Given the description of an element on the screen output the (x, y) to click on. 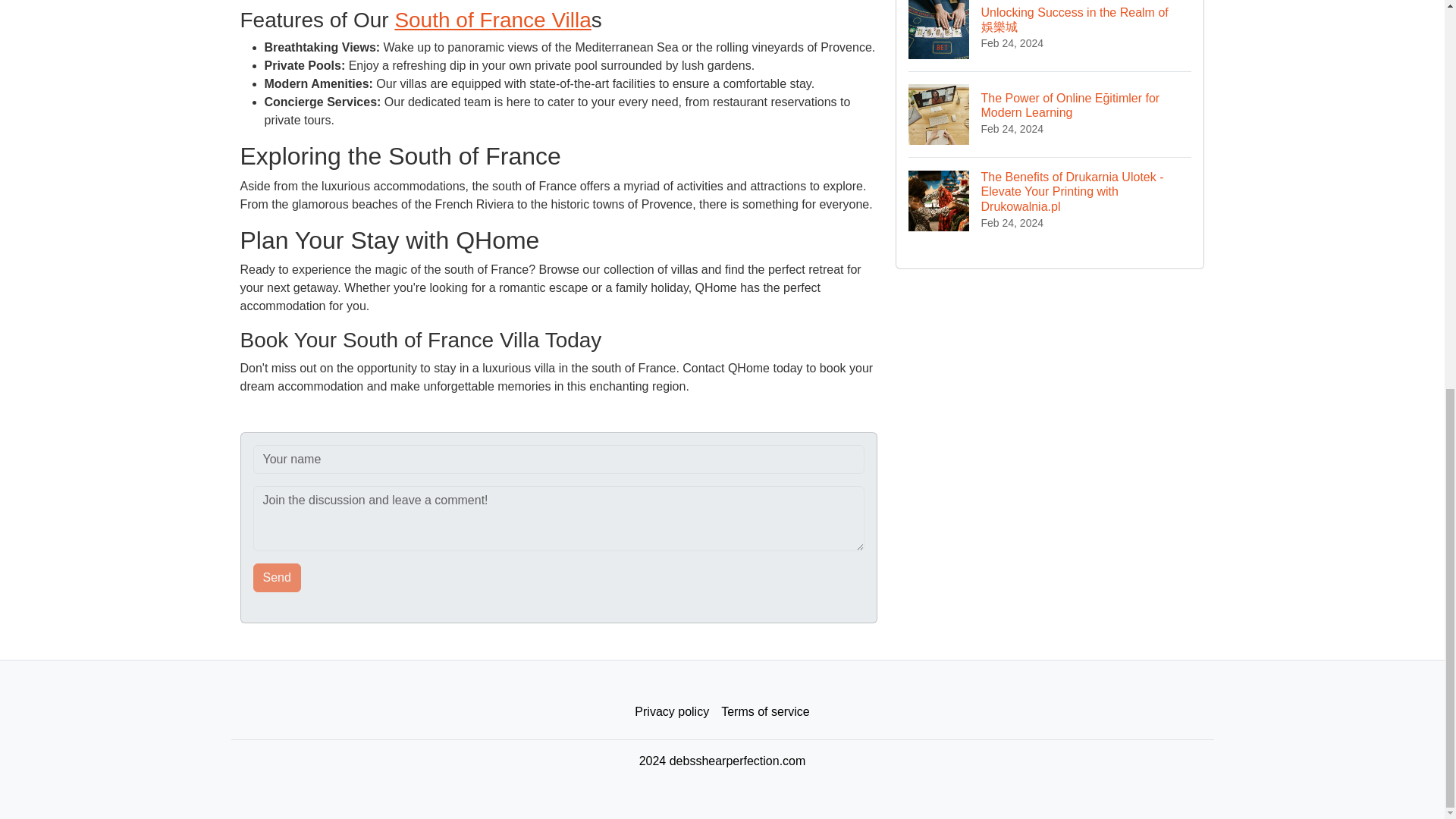
Privacy policy (671, 711)
Terms of service (764, 711)
Send (277, 577)
Send (277, 577)
South of France Villa (492, 19)
